Given the description of an element on the screen output the (x, y) to click on. 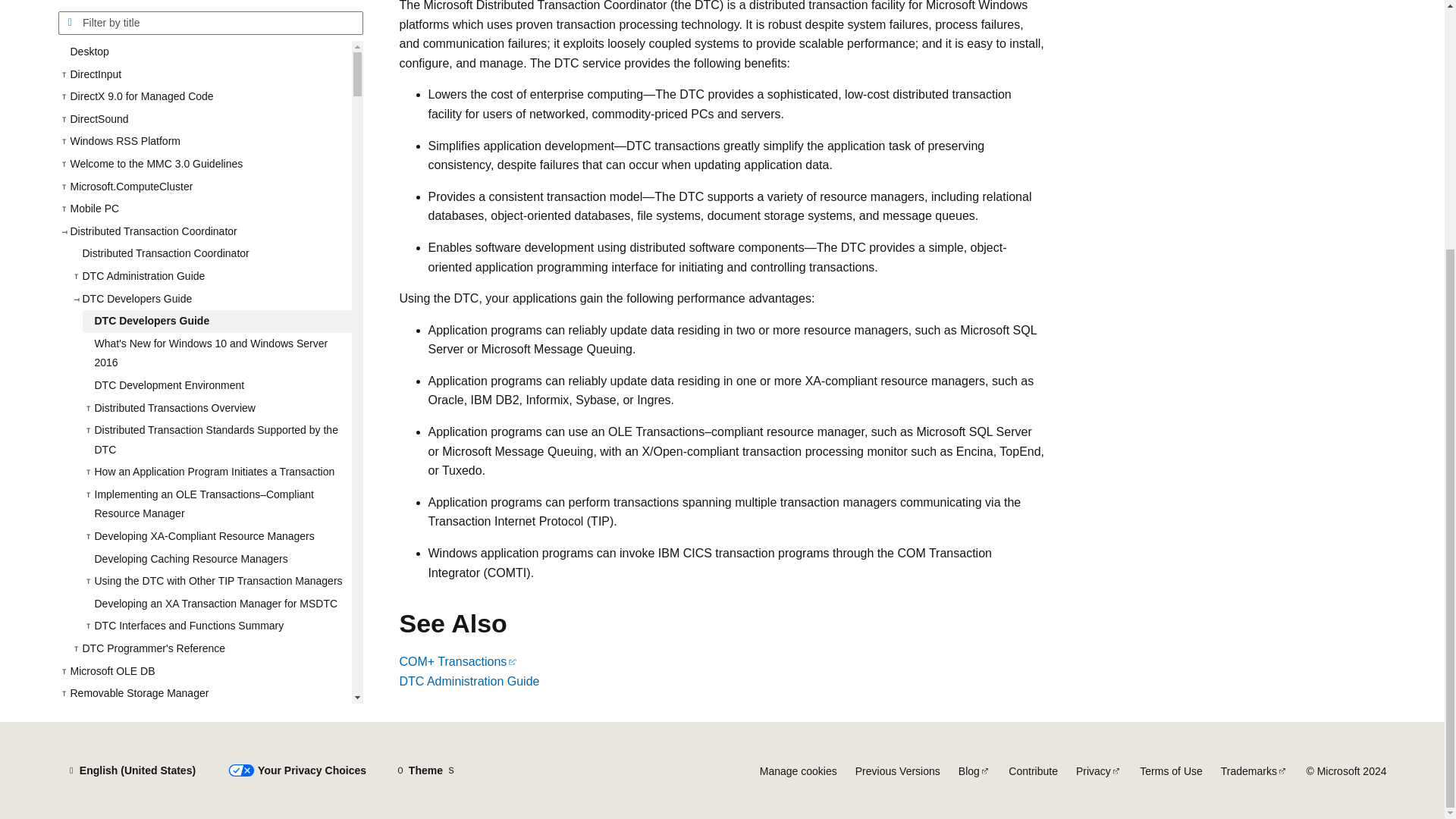
Theme (425, 770)
Developing Caching Resource Managers (215, 356)
DTC Development Environment (215, 182)
What's New for Windows 10 and Windows Server 2016 (215, 150)
DTC Developers Guide (215, 118)
Distributed Transaction Coordinator (209, 51)
Developing an XA Transaction Manager for MSDTC (215, 401)
